Given the description of an element on the screen output the (x, y) to click on. 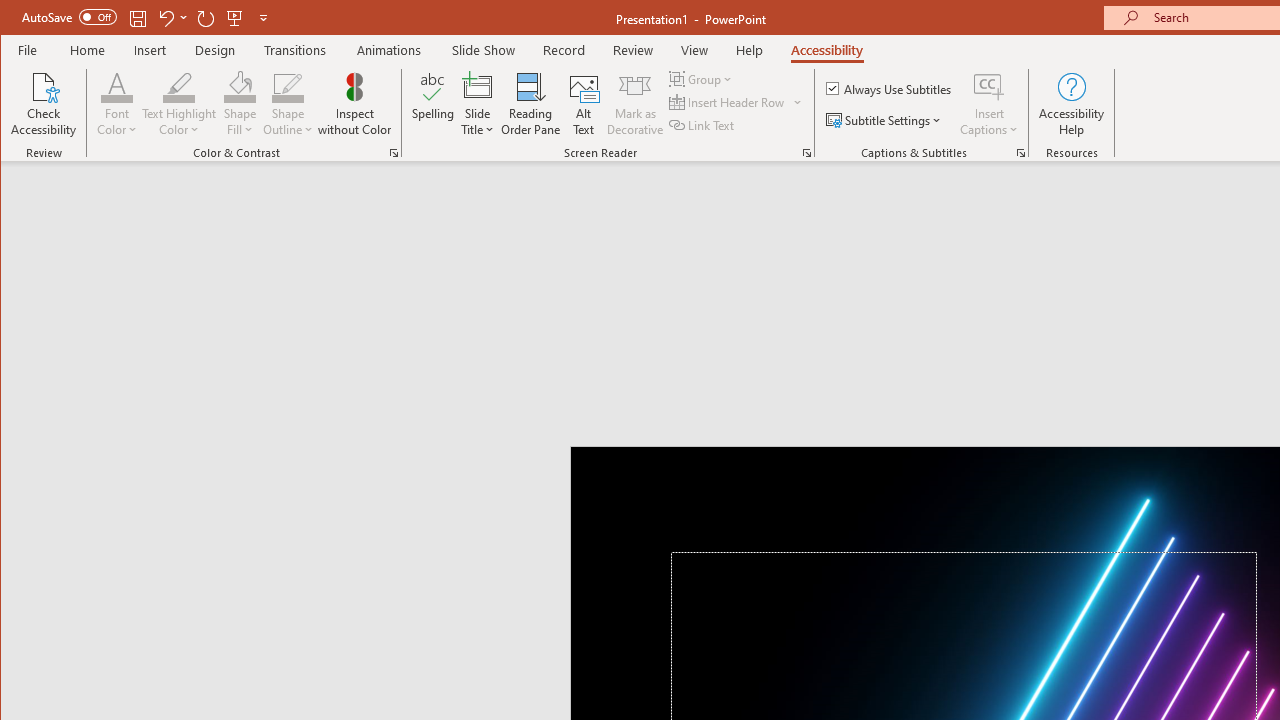
Accessibility Help (1071, 104)
